Given the description of an element on the screen output the (x, y) to click on. 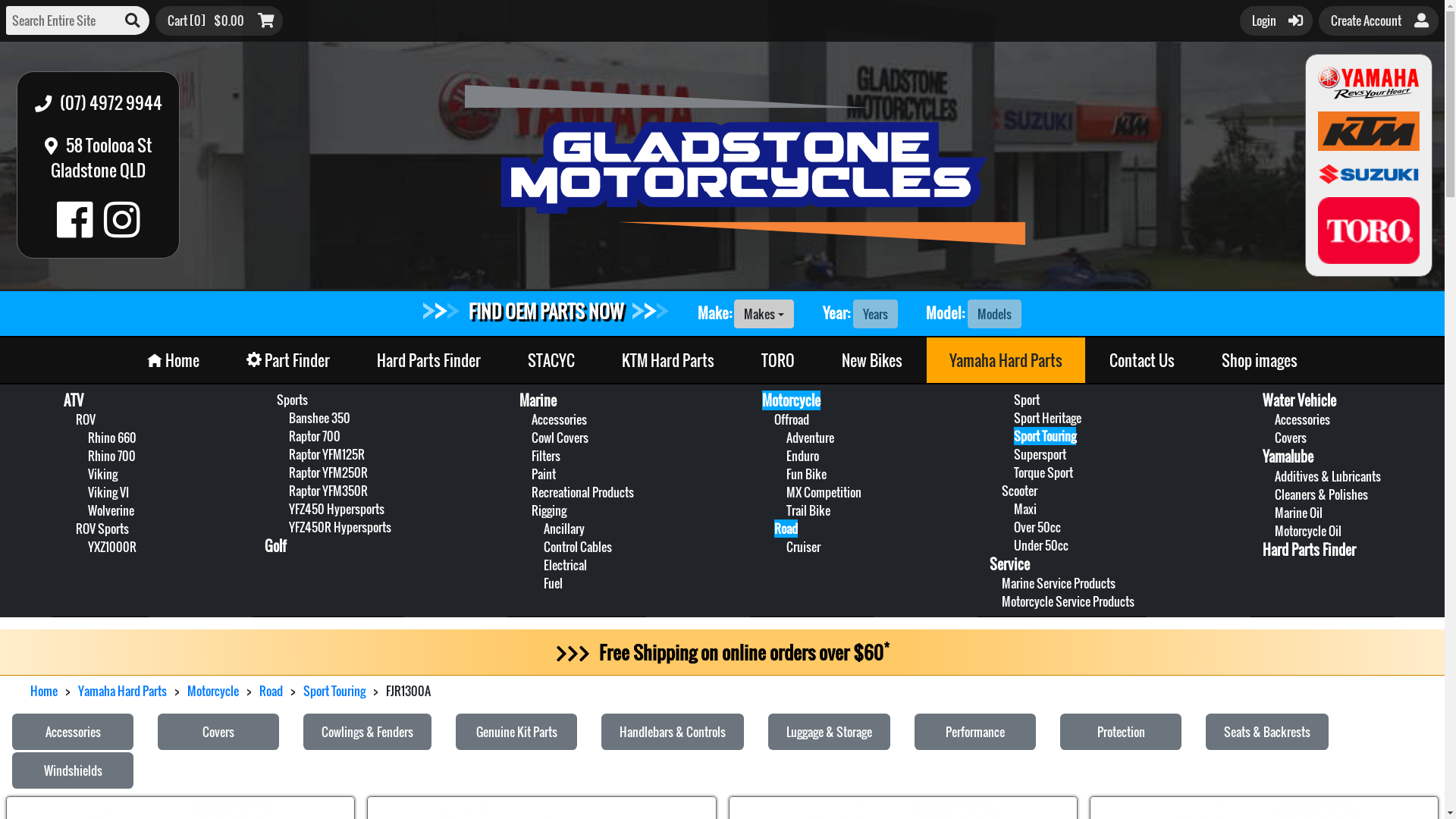
Home Element type: text (43, 690)
Cowlings & Fenders Element type: text (367, 731)
Cruiser Element type: text (803, 546)
Part Finder Element type: text (287, 359)
ROV Sports Element type: text (101, 528)
Shop images Element type: text (1259, 359)
Road Element type: text (270, 690)
Makes Element type: text (763, 313)
Login Element type: text (1276, 20)
Home Element type: text (173, 359)
Electrical Element type: text (564, 564)
Raptor YFM250R Element type: text (327, 472)
Cowl Covers Element type: text (559, 437)
Contact Us Element type: text (1141, 359)
Adventure Element type: text (810, 437)
Raptor 700 Element type: text (314, 435)
Water Vehicle Element type: text (1299, 400)
Marine Element type: text (537, 400)
Marine Oil Element type: text (1298, 512)
Over 50cc Element type: text (1036, 526)
Sport Touring Element type: text (1044, 435)
Trail Bike Element type: text (808, 510)
ROV Element type: text (85, 419)
Motorcycle Element type: text (791, 400)
Genuine Kit Parts Element type: text (516, 731)
Marine Service Products Element type: text (1058, 583)
Accessories Element type: text (73, 731)
Maxi Element type: text (1024, 508)
Raptor YFM125R Element type: text (326, 454)
Additives & Lubricants Element type: text (1327, 476)
Luggage & Storage Element type: text (829, 731)
Offroad Element type: text (791, 419)
Wolverine Element type: text (110, 510)
Paint Element type: text (543, 473)
Under 50cc Element type: text (1040, 545)
Rigging Element type: text (548, 510)
Sport Heritage Element type: text (1047, 417)
Seats & Backrests Element type: text (1266, 731)
YFZ450R Hypersports Element type: text (339, 526)
Yamalube Element type: text (1287, 456)
Sport Touring Element type: text (334, 690)
Torque Sport Element type: text (1043, 472)
Fun Bike Element type: text (806, 473)
Viking VI Element type: text (107, 492)
Create Account Element type: text (1378, 20)
Scooter Element type: text (1019, 490)
Performance Element type: text (974, 731)
Hard Parts Finder Element type: text (428, 359)
KTM Hard Parts Element type: text (668, 359)
Covers Element type: text (1290, 437)
Motorcycle Service Products Element type: text (1067, 601)
(07) 4972 9944 Element type: text (98, 102)
STACYC Element type: text (551, 359)
MX Competition Element type: text (823, 492)
Years Element type: text (875, 313)
Filters Element type: text (545, 455)
Rhino 700 Element type: text (111, 455)
Accessories Element type: text (1302, 419)
New Bikes Element type: text (872, 359)
Banshee 350 Element type: text (319, 417)
Protection Element type: text (1120, 731)
58 Toolooa St
Gladstone QLD Element type: text (98, 157)
Control Cables Element type: text (577, 546)
Accessories Element type: text (558, 419)
Covers Element type: text (218, 731)
Windshields Element type: text (72, 770)
Raptor YFM350R Element type: text (327, 490)
TORO Element type: text (777, 359)
Service Element type: text (1009, 564)
Yamaha Hard Parts Element type: text (122, 690)
Golf Element type: text (275, 545)
Handlebars & Controls Element type: text (672, 731)
Free Shipping on online orders over $60* Element type: text (721, 651)
Motorcycle Element type: text (212, 690)
Sport Element type: text (1026, 399)
Sports Element type: text (291, 399)
Viking Element type: text (102, 473)
Cart 0 0.00 Element type: text (219, 20)
Fuel Element type: text (552, 583)
YFZ450 Hypersports Element type: text (336, 508)
FIND OEM PARTS NOW Element type: text (545, 310)
YXZ1000R Element type: text (111, 546)
Yamaha Hard Parts Element type: text (1005, 359)
Ancillary Element type: text (563, 528)
Recreational Products Element type: text (582, 492)
Motorcycle Oil Element type: text (1307, 530)
ATV Element type: text (73, 400)
Enduro Element type: text (802, 455)
Rhino 660 Element type: text (111, 437)
Models Element type: text (994, 313)
Supersport Element type: text (1039, 454)
Road Element type: text (785, 528)
Cleaners & Polishes Element type: text (1321, 494)
Hard Parts Finder Element type: text (1308, 549)
